Given the description of an element on the screen output the (x, y) to click on. 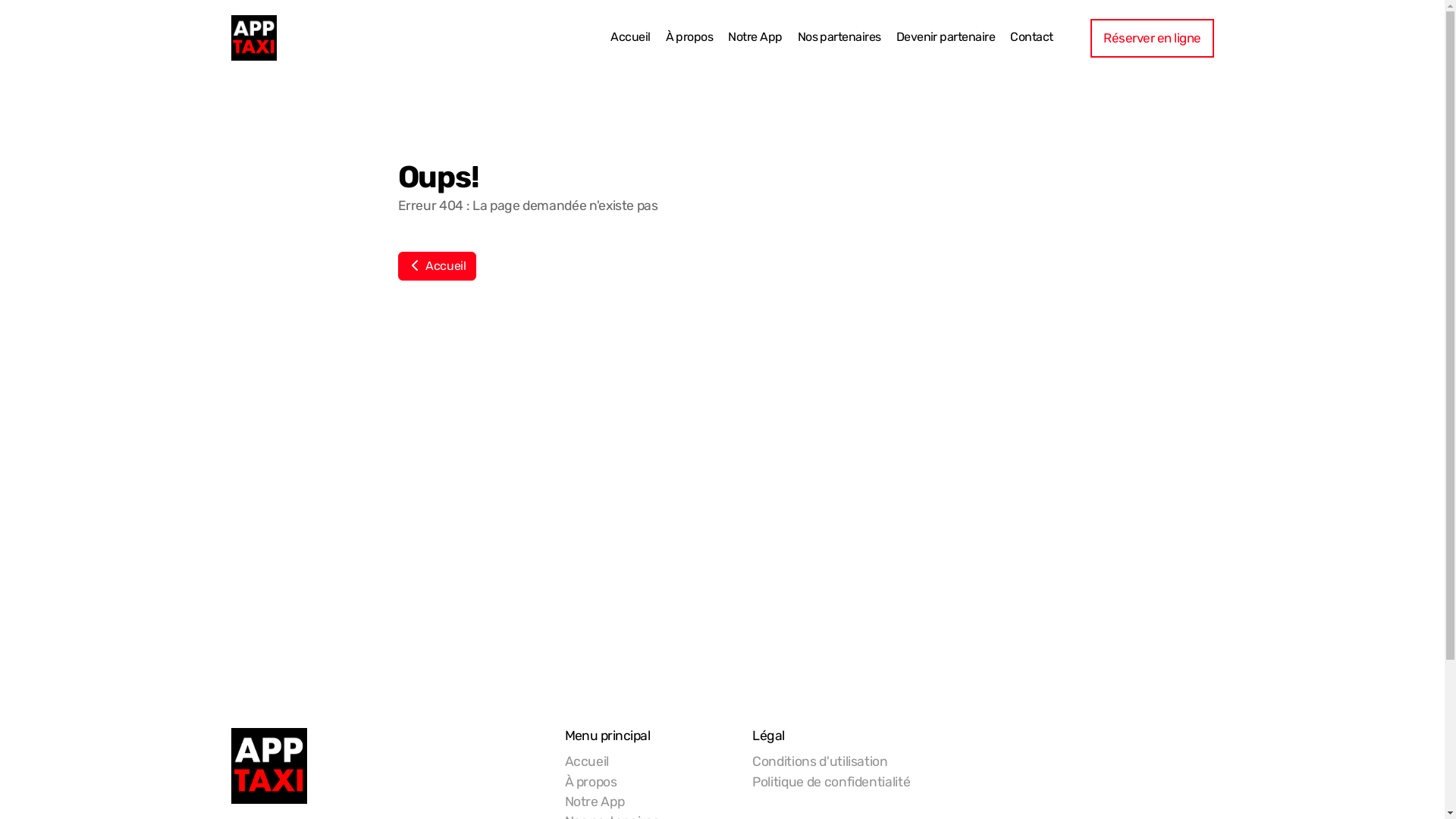
Accueil Element type: text (586, 760)
Accueil Element type: text (436, 265)
Accueil Element type: text (629, 37)
Nos partenaires Element type: text (839, 37)
Notre App Element type: text (594, 801)
Devenir partenaire Element type: text (945, 37)
Conditions d'utilisation Element type: text (820, 760)
Notre App Element type: text (754, 37)
Contact Element type: text (1031, 37)
